Given the description of an element on the screen output the (x, y) to click on. 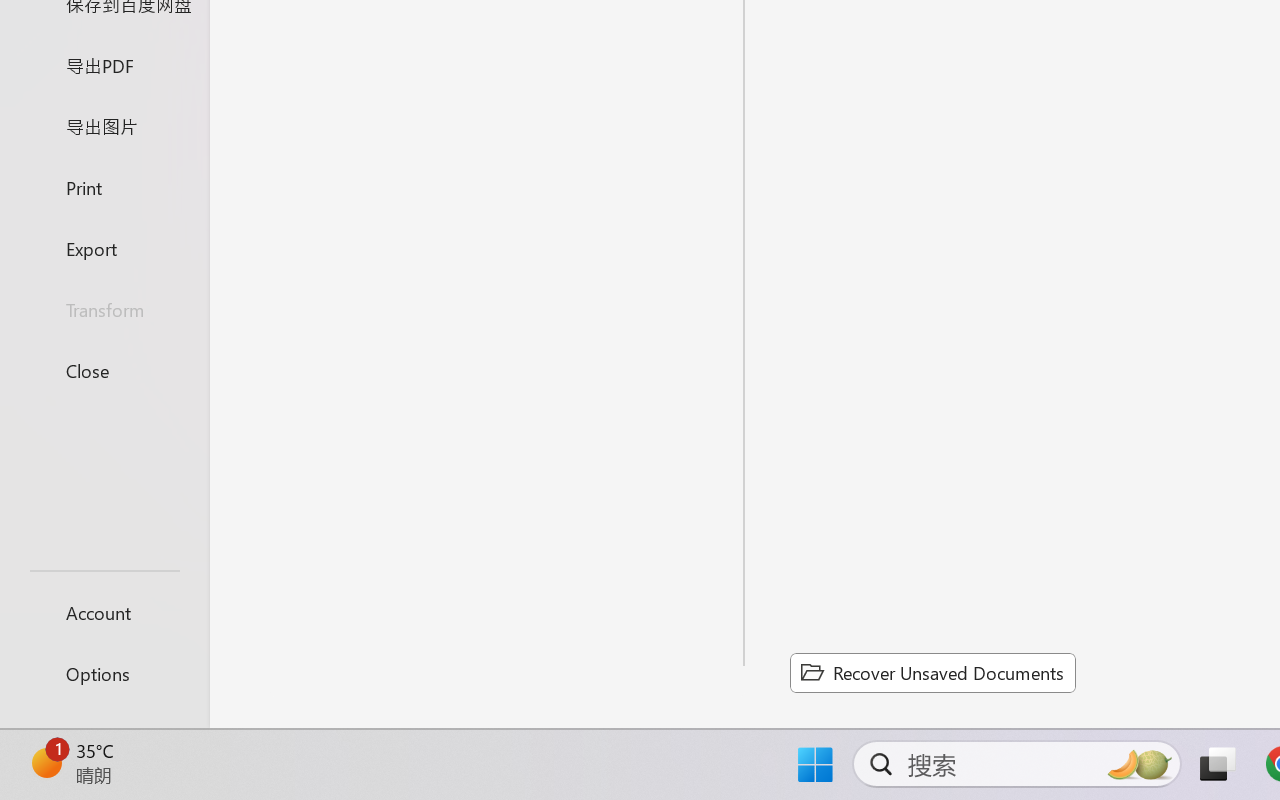
Print (104, 186)
Export (104, 248)
Transform (104, 309)
Account (104, 612)
Options (104, 673)
Recover Unsaved Documents (932, 672)
